Given the description of an element on the screen output the (x, y) to click on. 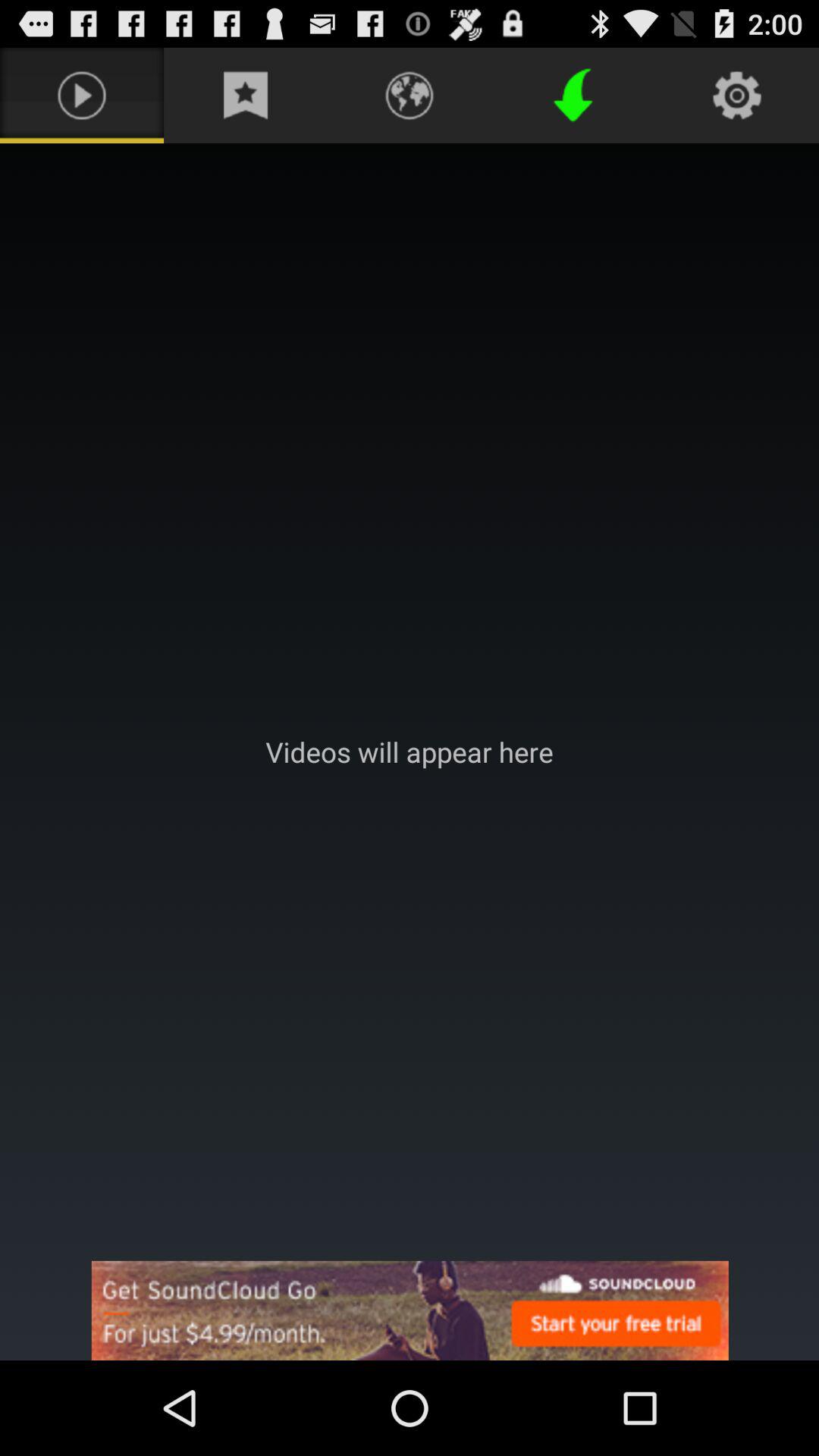
vidoes will appear here (409, 751)
